Given the description of an element on the screen output the (x, y) to click on. 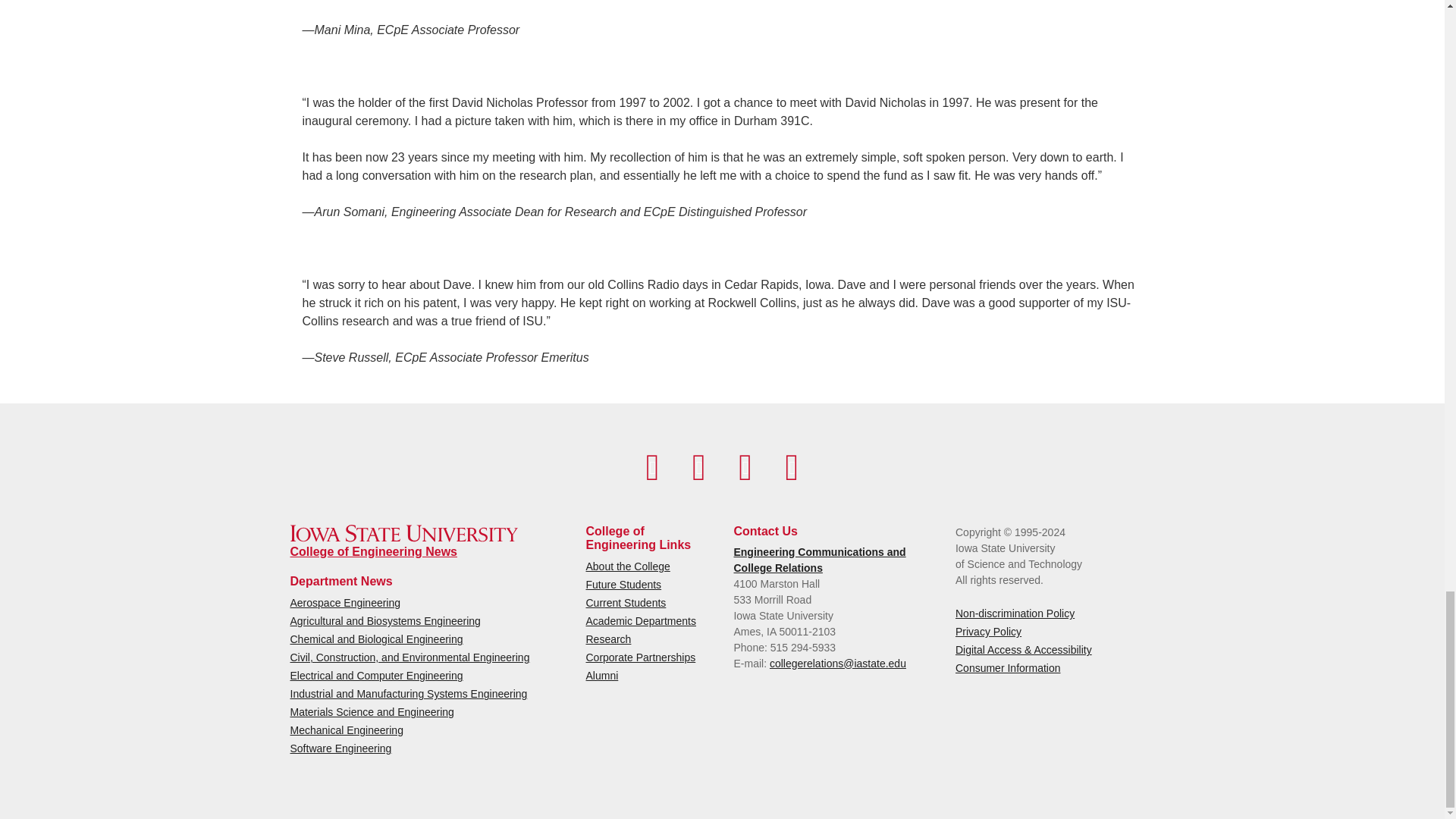
MyState (791, 467)
YouTube (698, 467)
Iowa State University (402, 533)
Instagram (745, 467)
Facebook (651, 467)
